Given the description of an element on the screen output the (x, y) to click on. 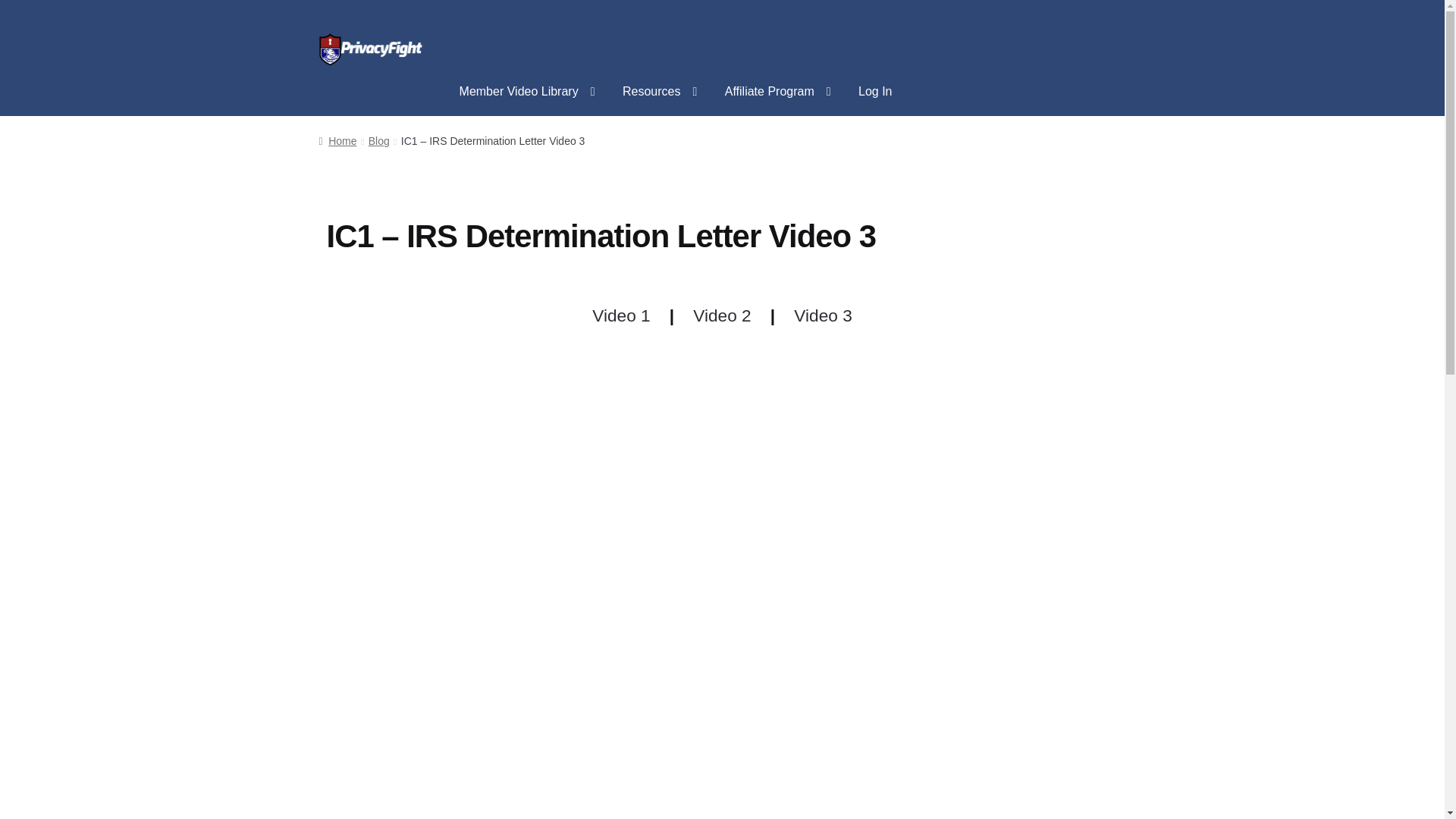
Log In (874, 91)
Member Video Library (526, 91)
Affiliate Program (778, 91)
Resources (659, 91)
